Given the description of an element on the screen output the (x, y) to click on. 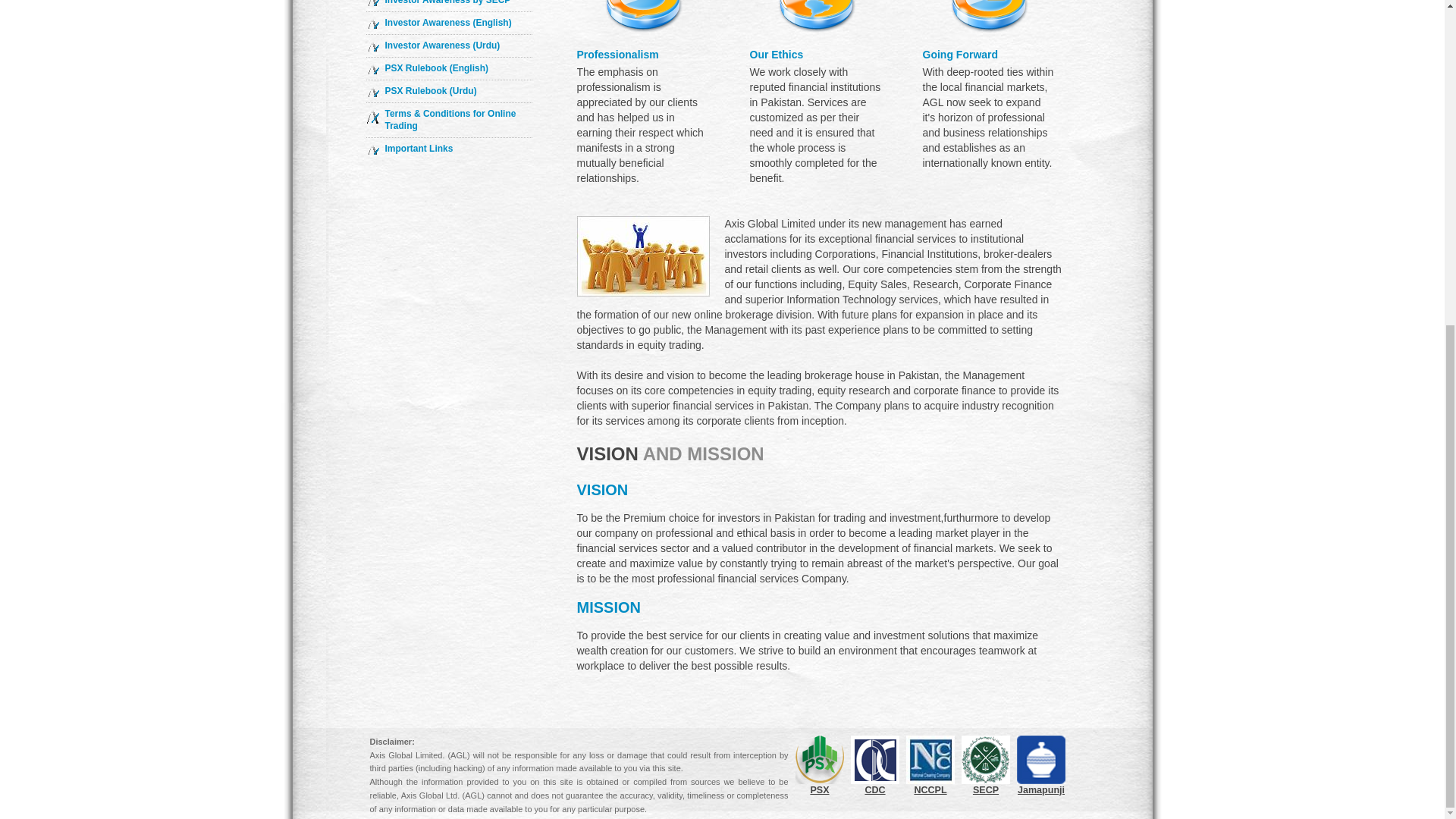
CDC (874, 765)
PSX (819, 765)
Jamapunji (1040, 765)
SECP (985, 765)
NCCPL (930, 765)
Important Links (418, 148)
Investor Awareness by SECP (448, 2)
